Given the description of an element on the screen output the (x, y) to click on. 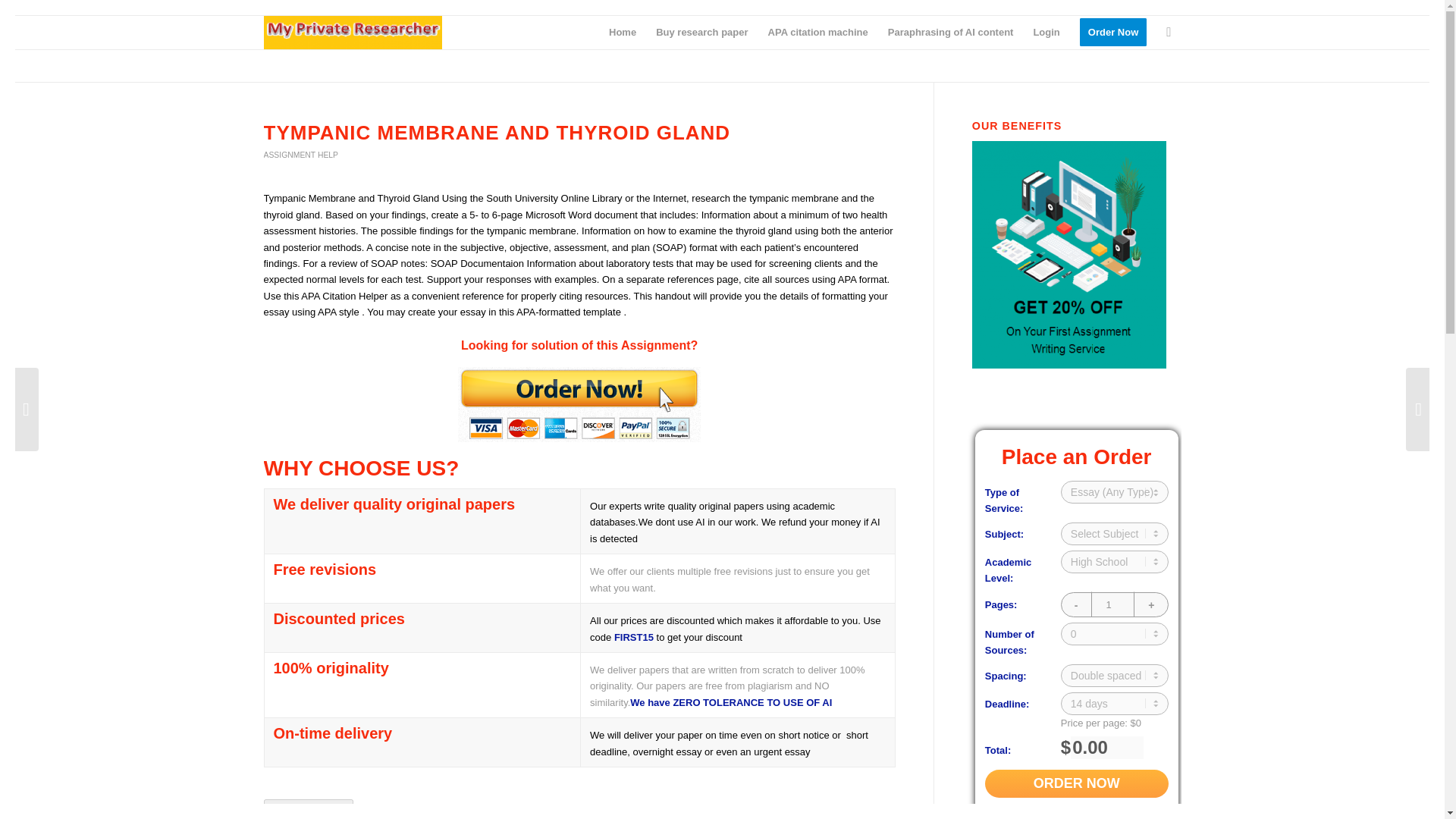
Order Now (1077, 783)
Proceed to Order (308, 806)
Order Now (1113, 32)
ASSIGNMENT HELP (301, 154)
Proceed to Order (308, 807)
Permanent Link: tympanic membrane and thyroid gland (496, 132)
TYMPANIC MEMBRANE AND THYROID GLAND (496, 132)
Home (622, 32)
1 (1115, 604)
APA citation machine (817, 32)
Order Now (1077, 783)
Paraphrasing of AI content (950, 32)
0.00 (1106, 747)
Login (1045, 32)
Buy research paper (701, 32)
